Given the description of an element on the screen output the (x, y) to click on. 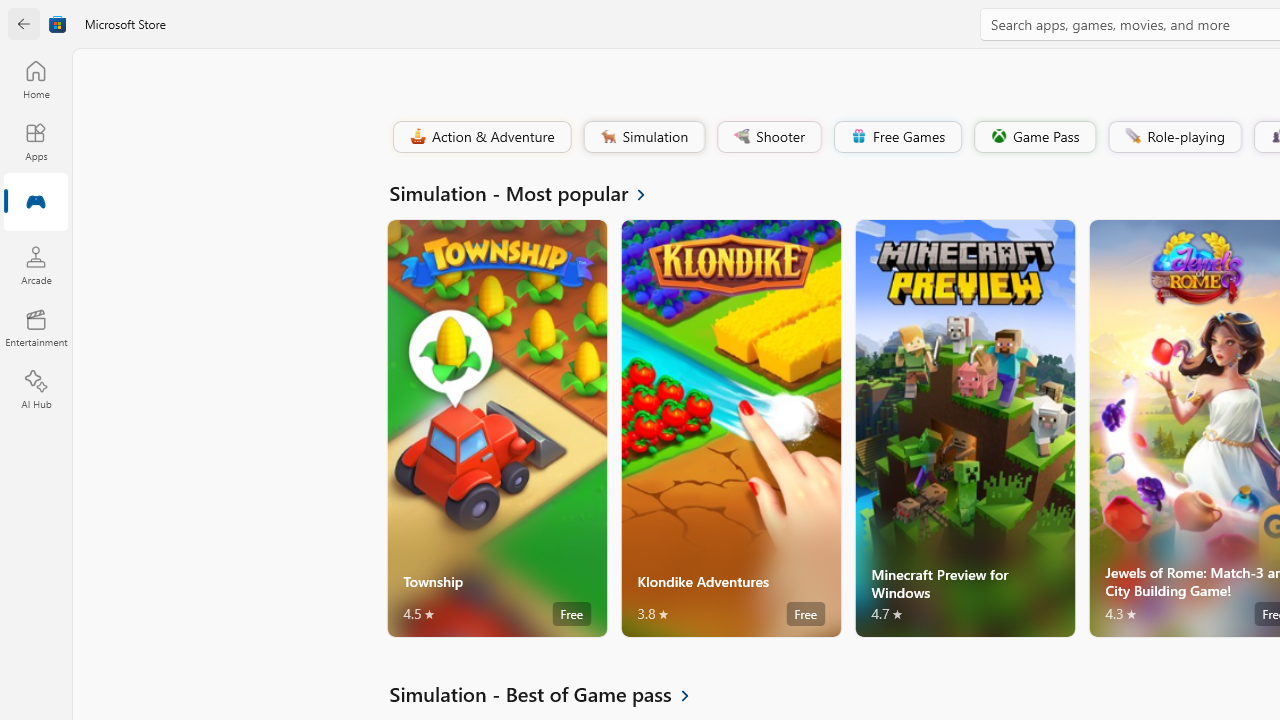
Arcade (35, 265)
Entertainment (35, 327)
Action & Adventure (480, 136)
See all  Simulation - Best of Game pass (551, 693)
